Given the description of an element on the screen output the (x, y) to click on. 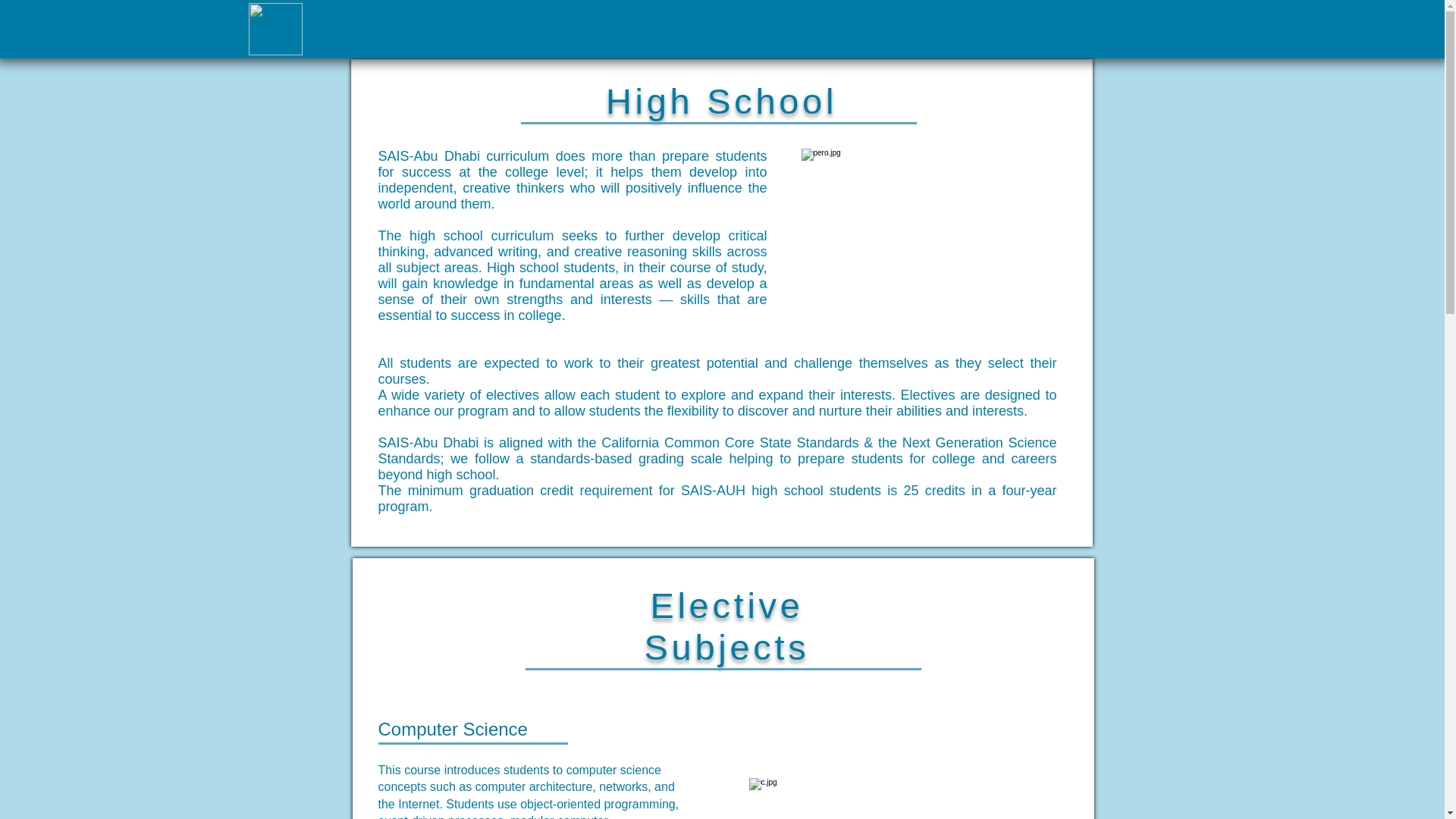
F.JPG (275, 29)
